Given the description of an element on the screen output the (x, y) to click on. 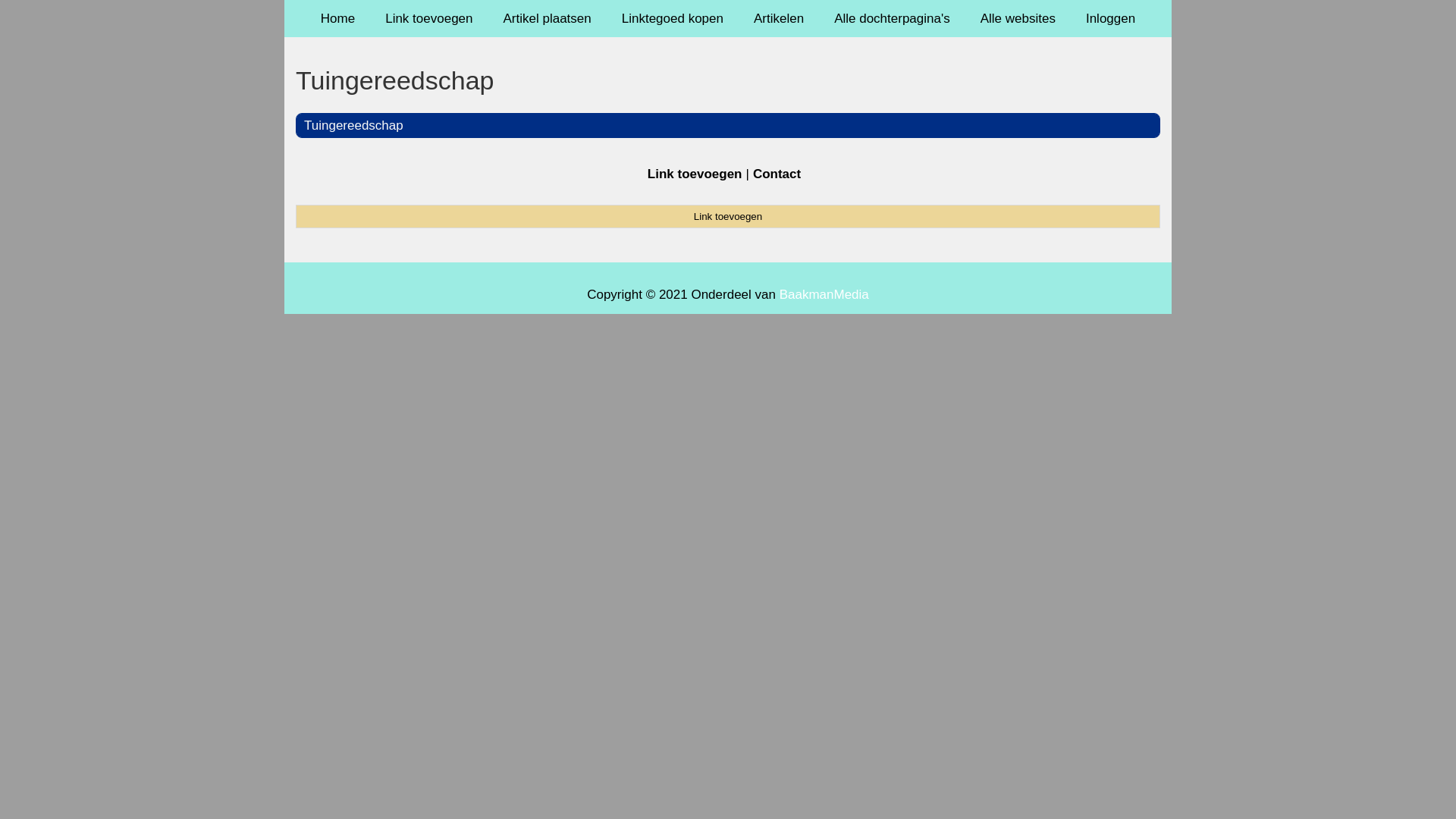
Inloggen Element type: text (1110, 18)
Tuingereedschap Element type: text (353, 125)
Contact Element type: text (776, 173)
Linktegoed kopen Element type: text (672, 18)
Link toevoegen Element type: text (694, 173)
Link toevoegen Element type: text (727, 215)
Alle dochterpagina's Element type: text (892, 18)
Tuingereedschap Element type: text (727, 80)
BaakmanMedia Element type: text (824, 294)
Home Element type: text (337, 18)
Artikelen Element type: text (778, 18)
Artikel plaatsen Element type: text (547, 18)
Link toevoegen Element type: text (428, 18)
Alle websites Element type: text (1017, 18)
